Given the description of an element on the screen output the (x, y) to click on. 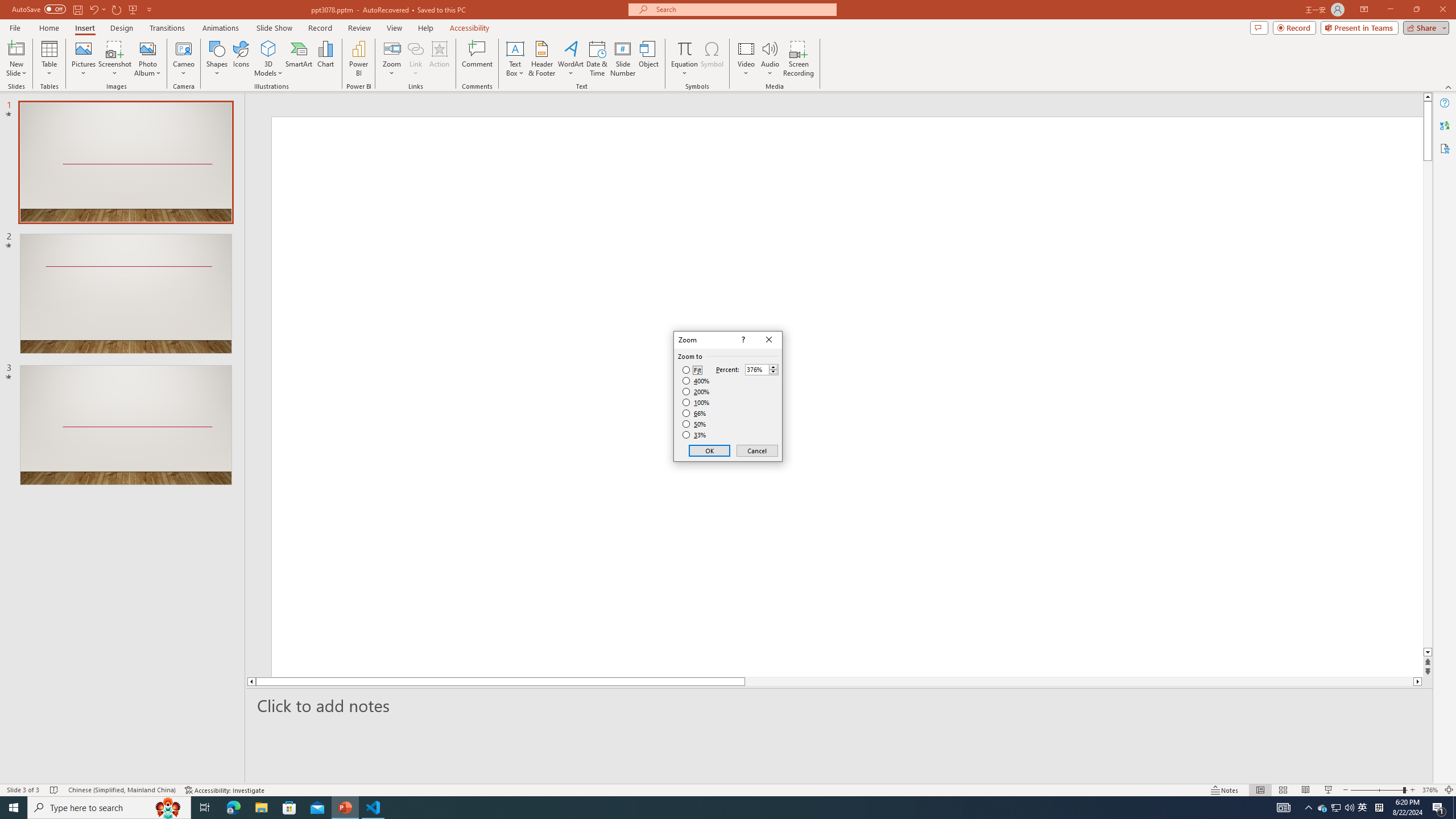
Text Box (515, 58)
Search highlights icon opens search home window (1335, 807)
Link (167, 807)
